Given the description of an element on the screen output the (x, y) to click on. 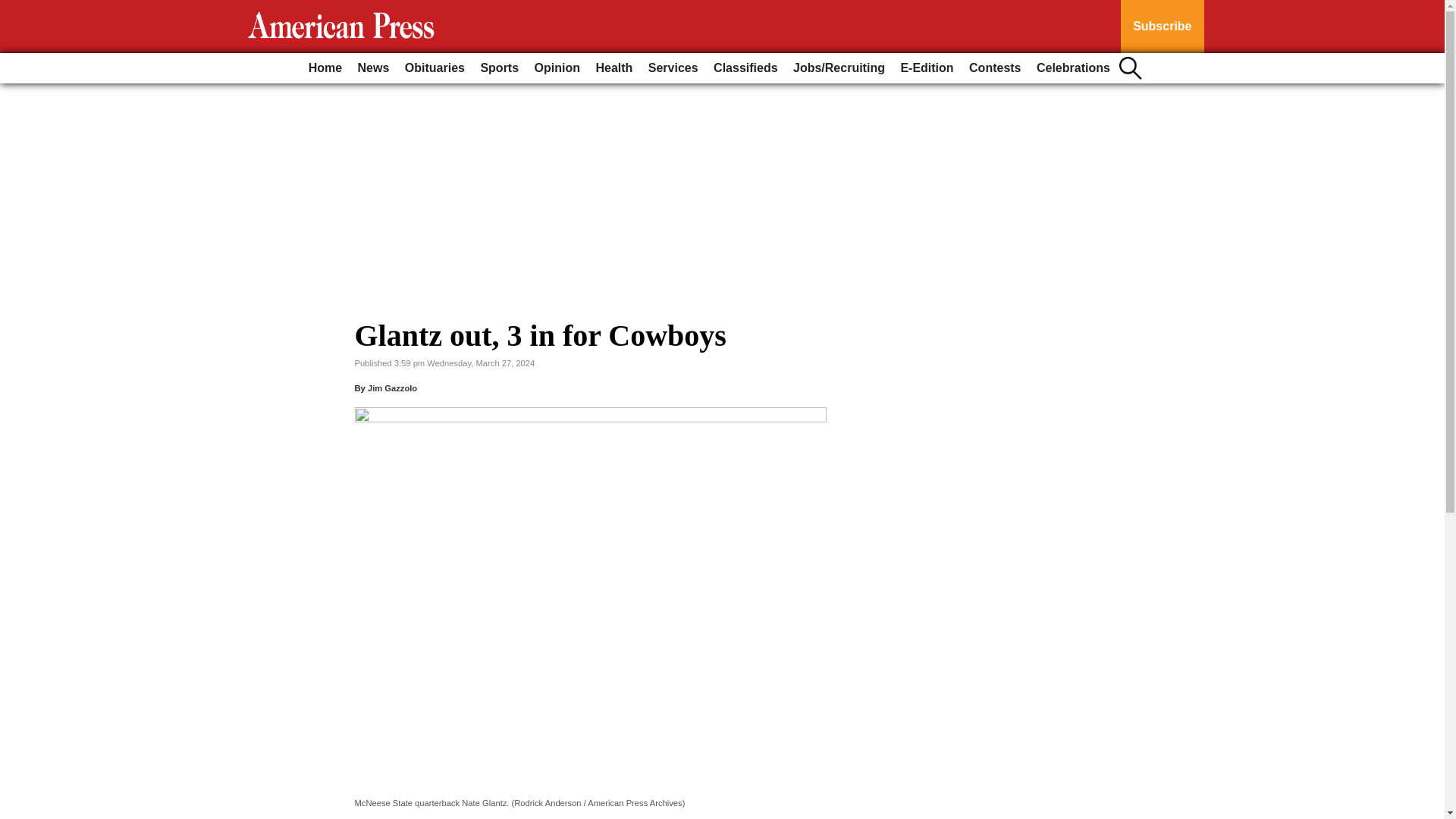
Go (13, 9)
Services (673, 68)
Obituaries (434, 68)
Jim Gazzolo (392, 388)
E-Edition (926, 68)
Classifieds (745, 68)
Subscribe (1162, 26)
Opinion (557, 68)
News (374, 68)
Sports (499, 68)
